Given the description of an element on the screen output the (x, y) to click on. 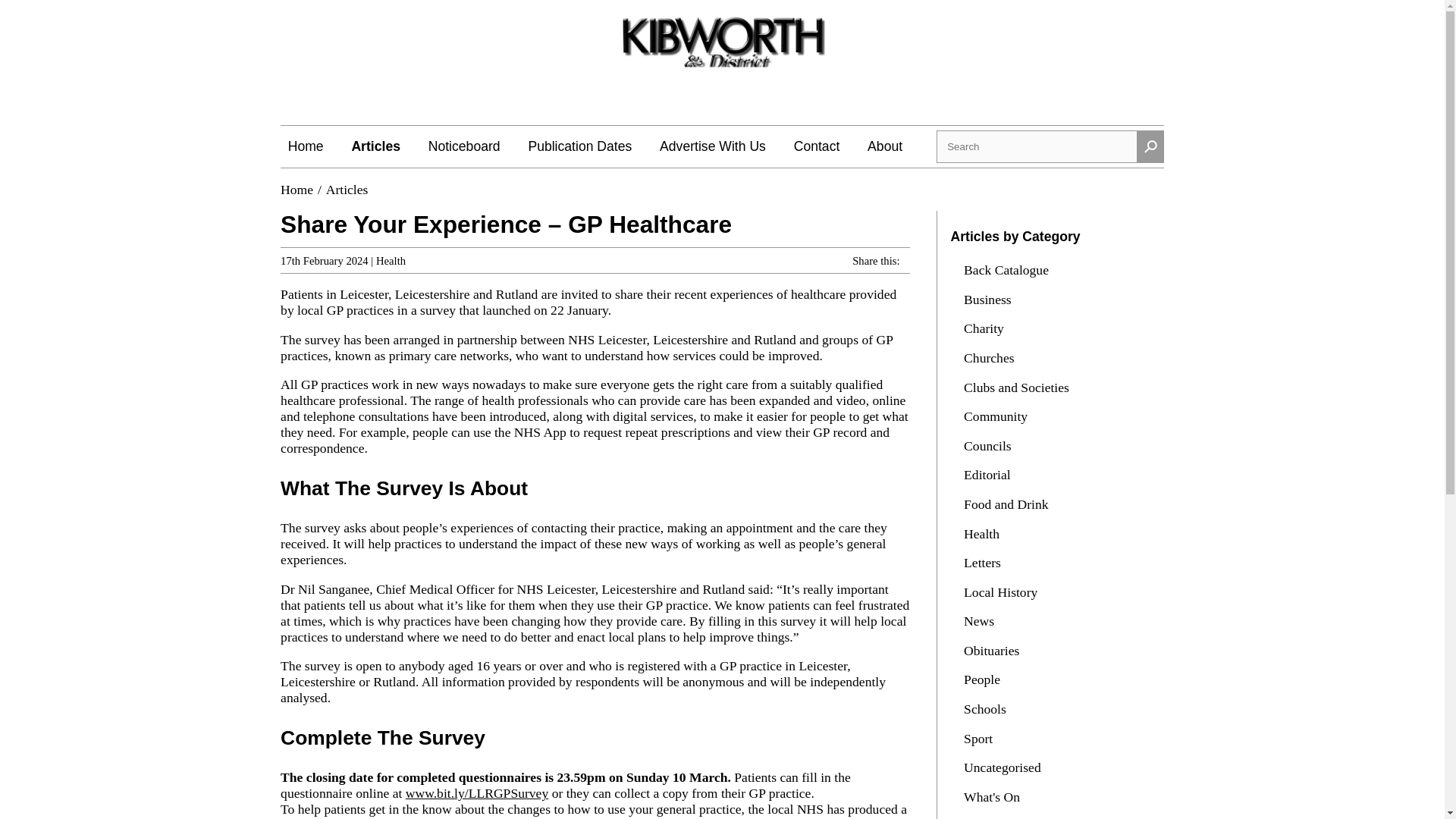
Health (390, 260)
Health (983, 533)
Articles (347, 189)
Schools (986, 708)
Community (996, 416)
Back Catalogue (1007, 269)
Local History (1002, 591)
Uncategorised (1004, 767)
News (980, 620)
Sport (980, 738)
